Given the description of an element on the screen output the (x, y) to click on. 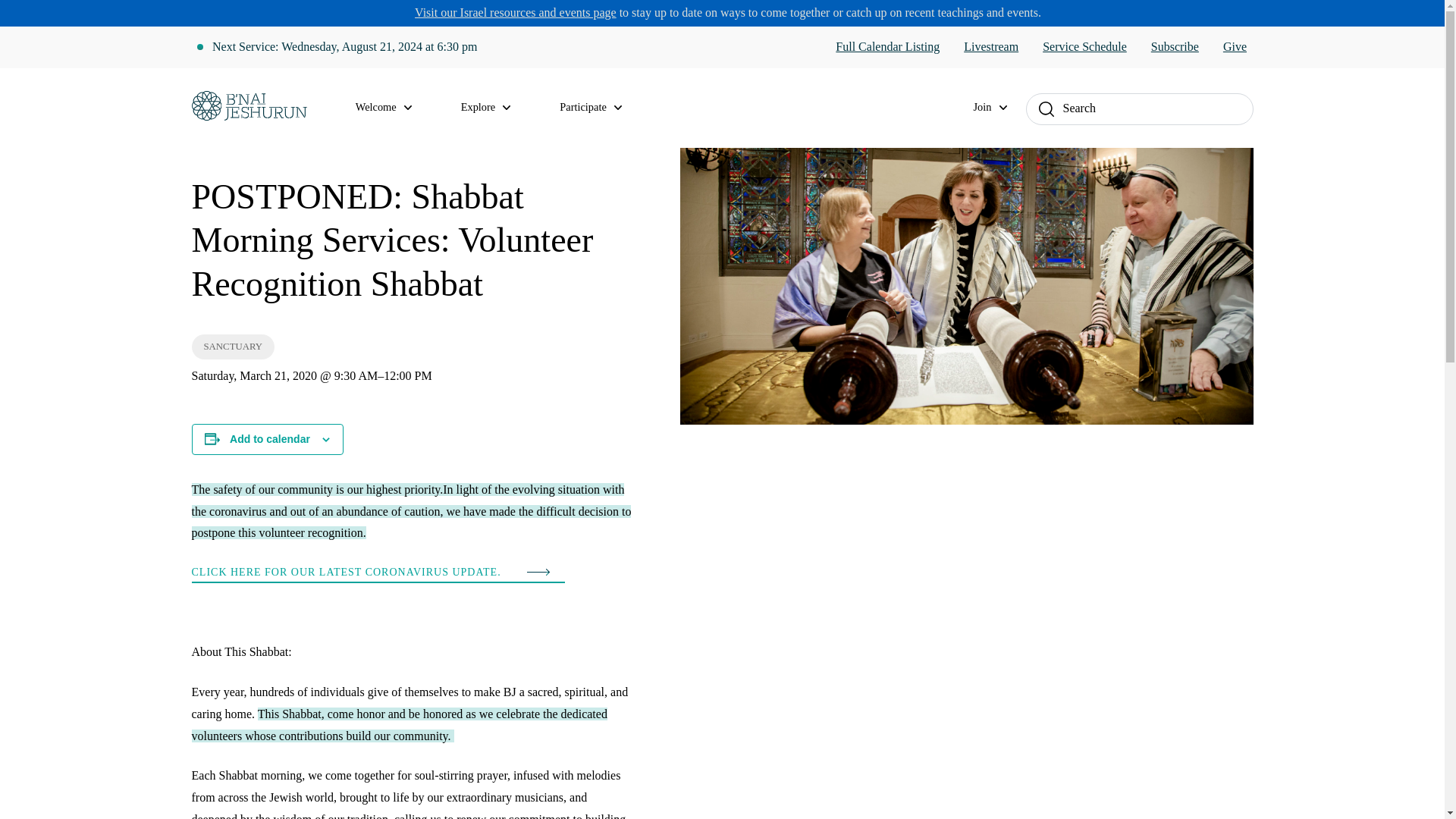
Full Calendar Listing (887, 47)
Next Service: Wednesday, August 21, 2024 at 6:30 pm (344, 47)
Livestream (990, 47)
Participate (599, 107)
Give (1234, 47)
Subscribe (1174, 47)
Welcome (392, 107)
Service Schedule (1084, 47)
Visit our Israel resources and events page (514, 12)
